Given the description of an element on the screen output the (x, y) to click on. 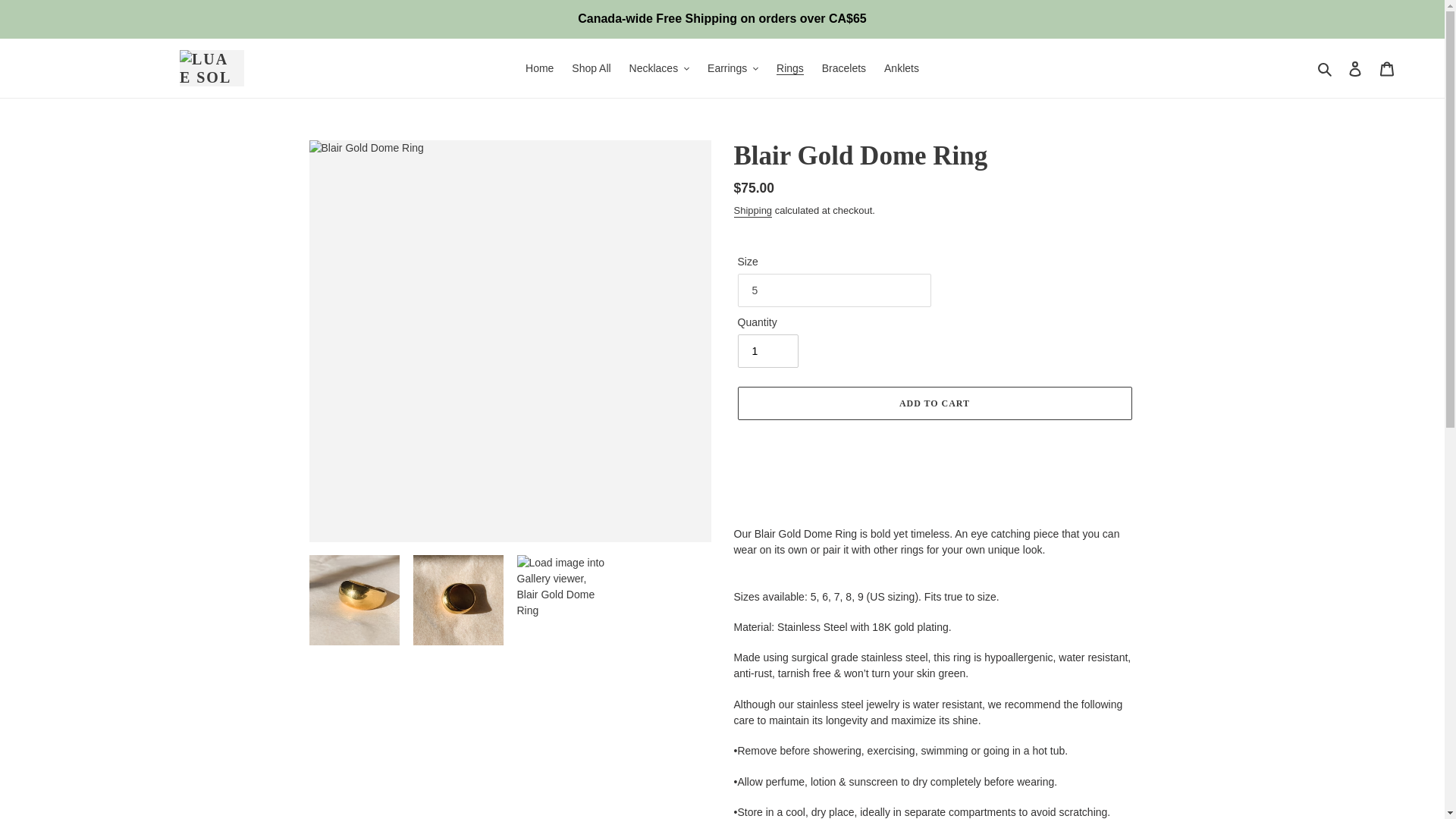
Anklets (901, 67)
Home (539, 67)
Earrings (732, 67)
Bracelets (843, 67)
Search (1326, 67)
Shop All (590, 67)
1 (766, 350)
Rings (789, 67)
Log in (1355, 67)
Cart (1387, 67)
